Given the description of an element on the screen output the (x, y) to click on. 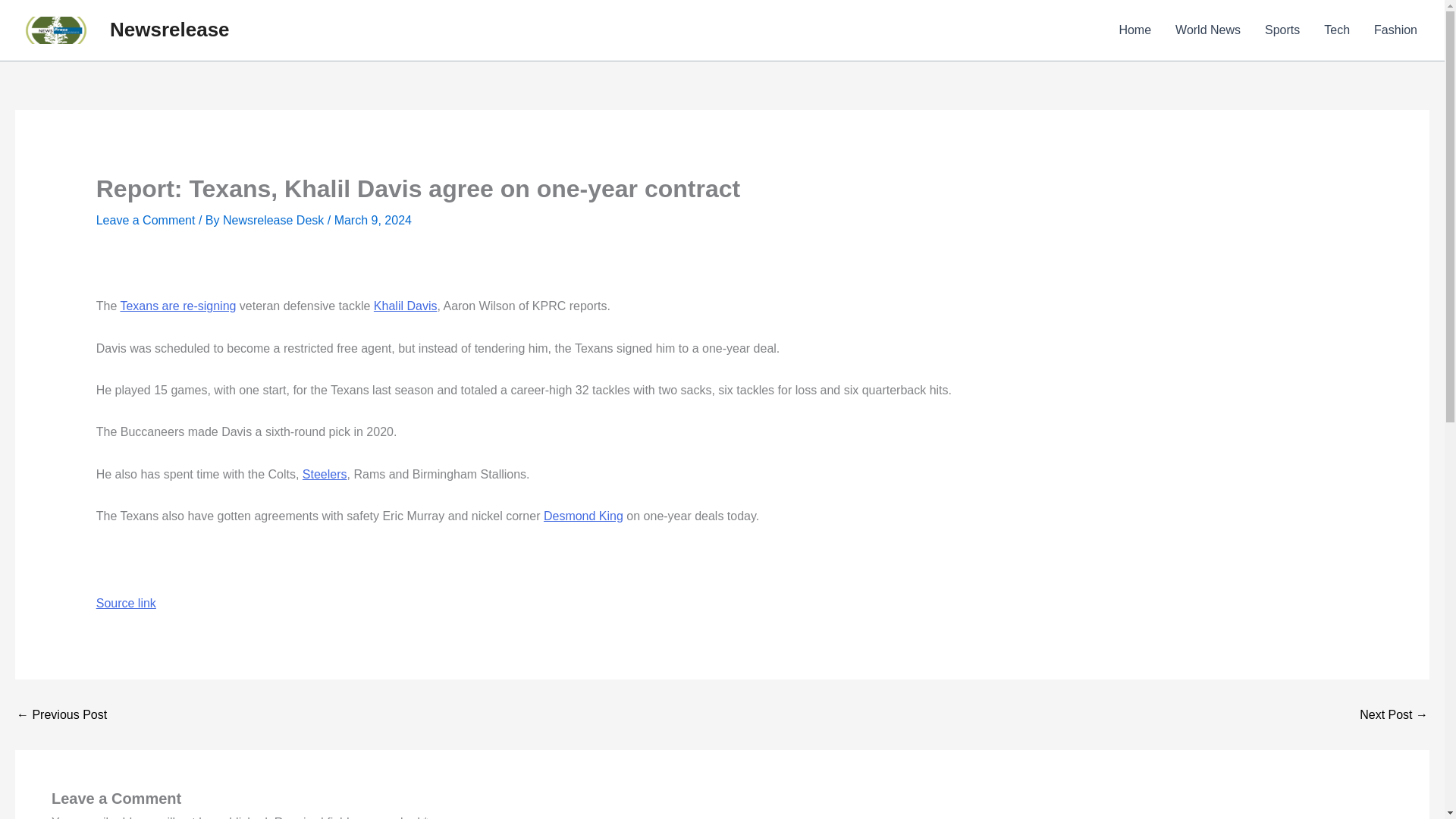
View all posts by Newsrelease Desk (274, 219)
Home (1134, 30)
Source link (125, 602)
Leave a Comment (145, 219)
World News (1207, 30)
Newsrelease Desk (274, 219)
Khalil Davis (406, 305)
Fashion (1395, 30)
Doug Marrone joins Bill O'Brien at Boston College (1393, 715)
